Given the description of an element on the screen output the (x, y) to click on. 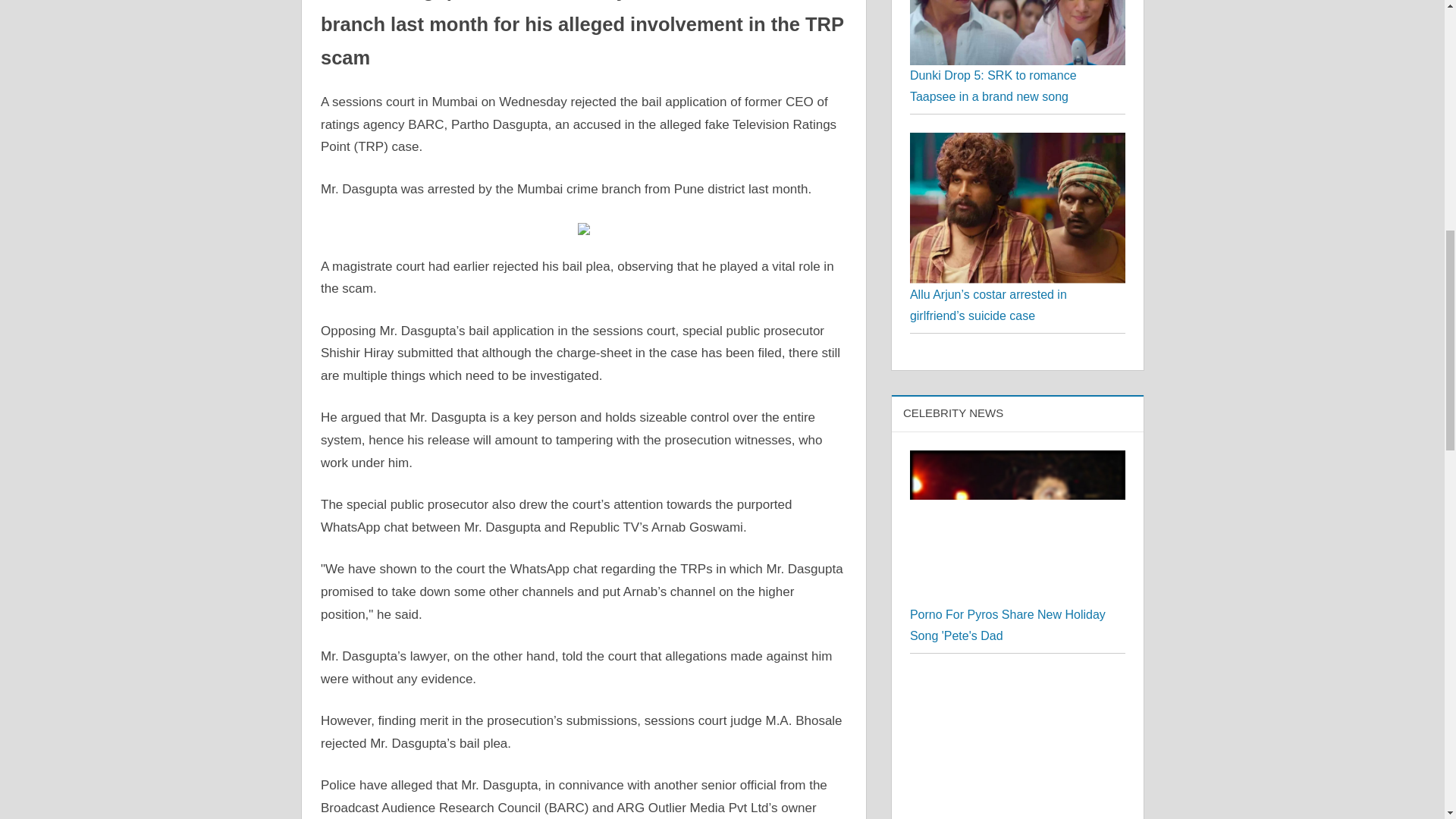
Porno For Pyros Share New Holiday Song 'Pete's Dad (1017, 460)
Dunki Drop 5: SRK to romance Taapsee in a brand new song (993, 85)
10 Healthy Things Diabetics Should Do in 2024 (1017, 745)
Porno For Pyros Share New Holiday Song 'Pete's Dad (1007, 625)
Porno For Pyros Share New Holiday Song 'Pete's Dad (1017, 527)
Dunki Drop 5: SRK to romance Taapsee in a brand new song (1017, 32)
10 Healthy Things Diabetics Should Do in 2024 (1017, 681)
